Given the description of an element on the screen output the (x, y) to click on. 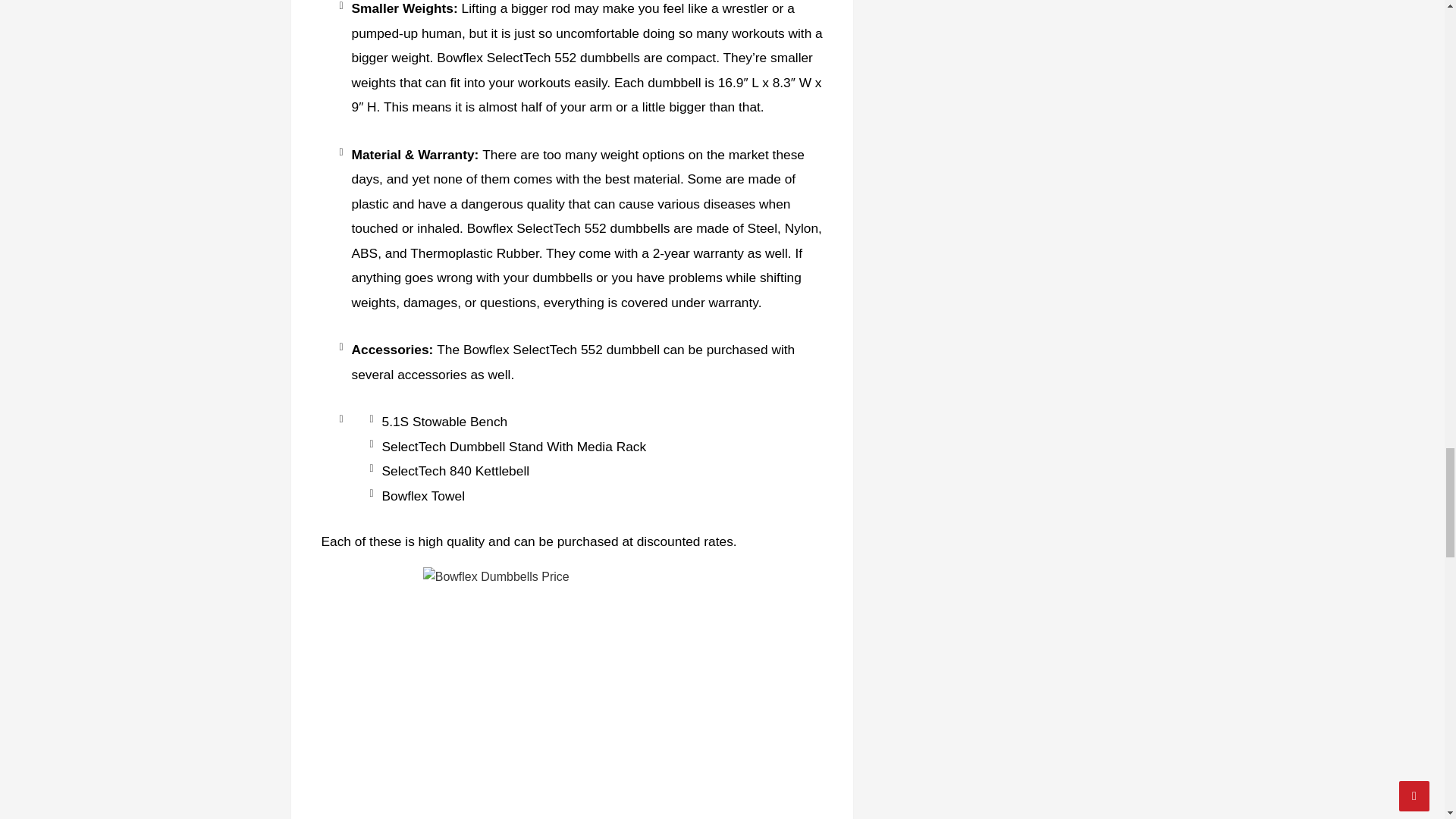
workouts (544, 82)
Bowflex Dumbbells Reviews 4 (571, 693)
